Given the description of an element on the screen output the (x, y) to click on. 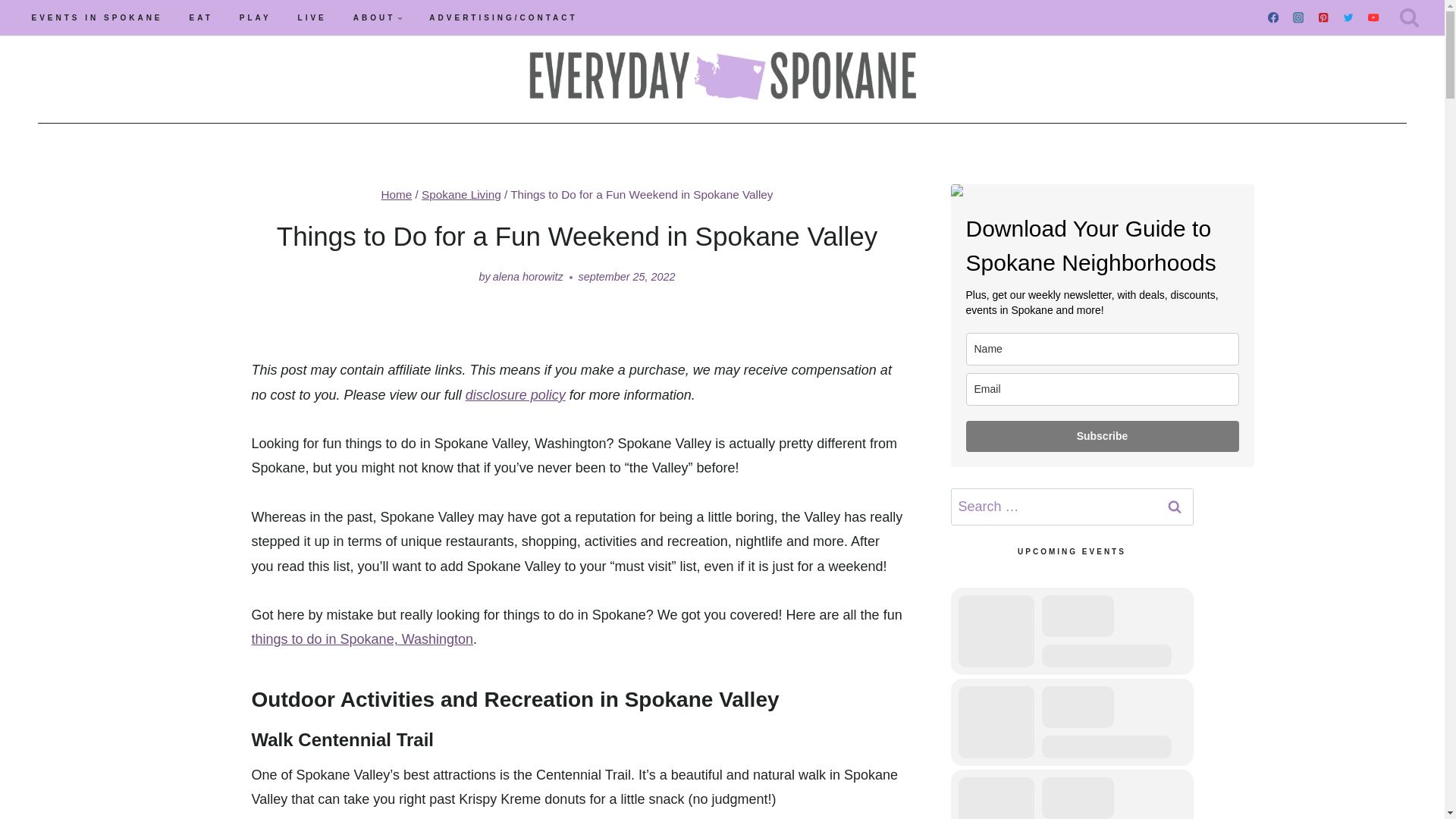
Search (1174, 506)
EAT (200, 18)
Search (1174, 506)
Spokane Living (461, 194)
PLAY (254, 18)
things to do in Spokane, Washington (362, 639)
EVENTS IN SPOKANE (96, 18)
Home (396, 194)
LIVE (311, 18)
alena horowitz (528, 276)
disclosure policy (515, 394)
Centennial Trail (365, 739)
ABOUT (377, 18)
